Given the description of an element on the screen output the (x, y) to click on. 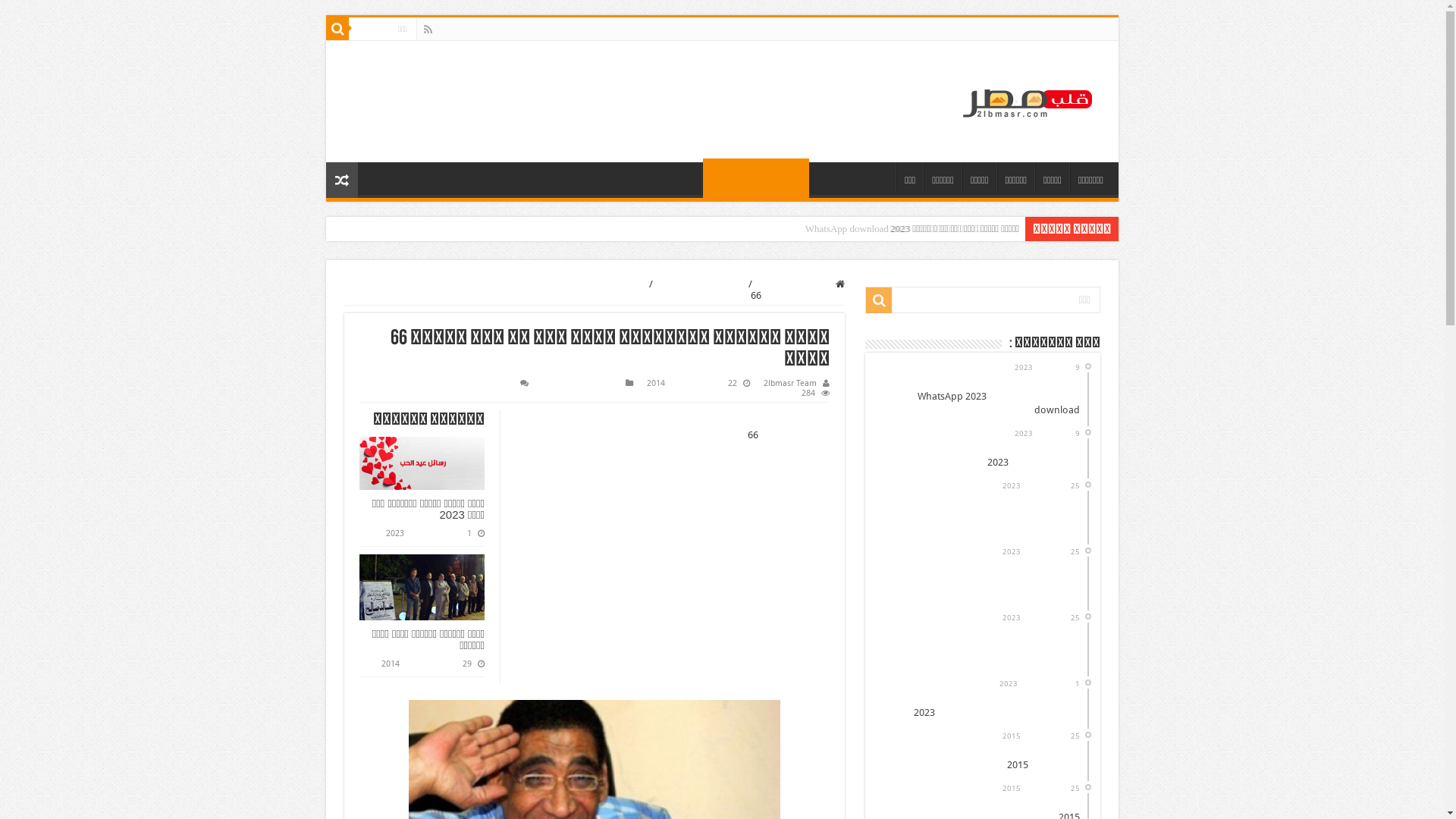
Rss Element type: hover (427, 29)
2lbmasr Team Element type: text (789, 383)
